Given the description of an element on the screen output the (x, y) to click on. 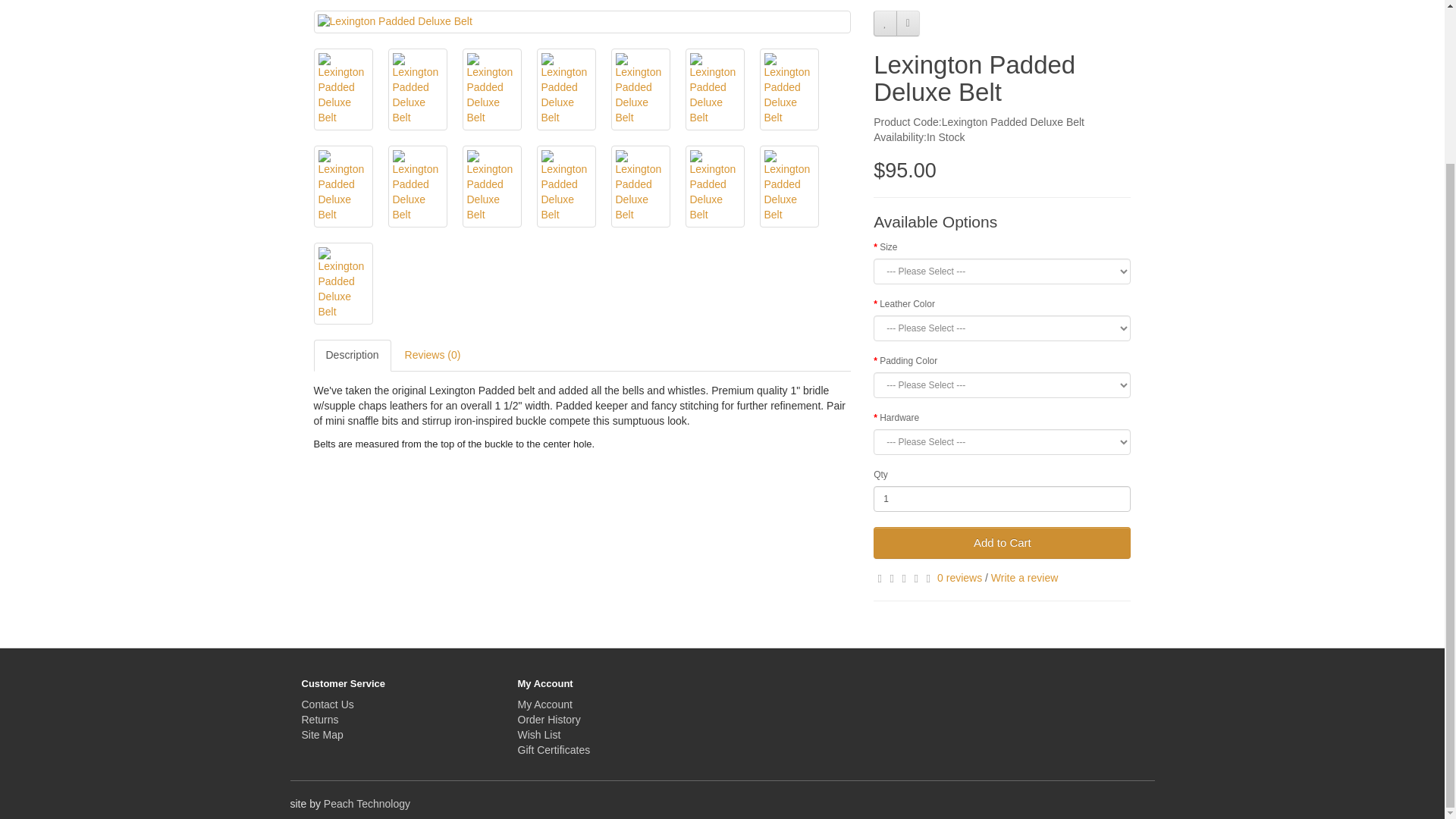
Lexington Padded Deluxe Belt (582, 21)
Lexington Padded Deluxe Belt (582, 21)
1 (1002, 498)
Description (352, 355)
